Given the description of an element on the screen output the (x, y) to click on. 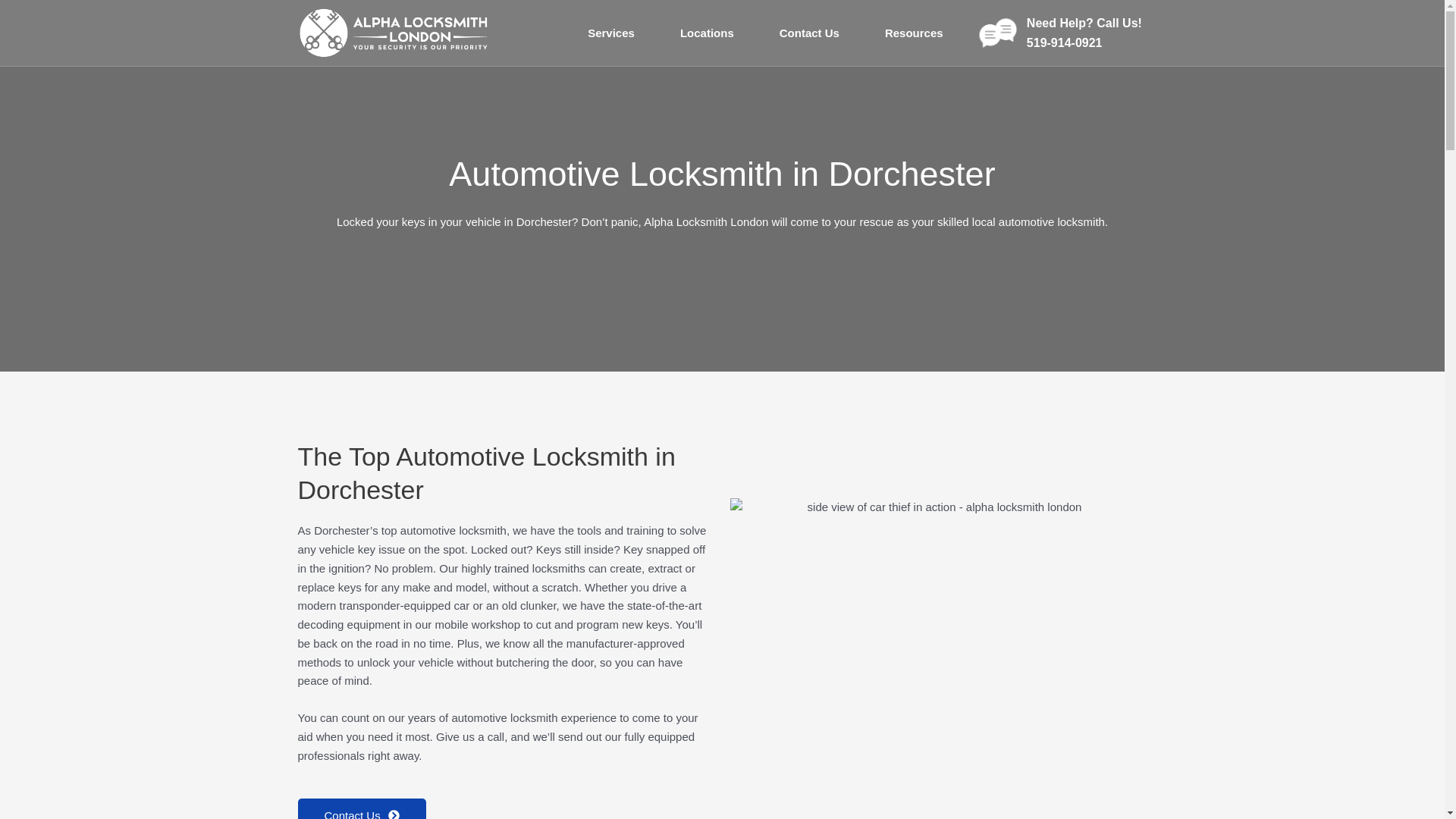
Contact Us (809, 32)
Locations (707, 32)
Automotive Locksmith Dorchester 1 (938, 636)
Services (611, 32)
Resources (913, 32)
